Given the description of an element on the screen output the (x, y) to click on. 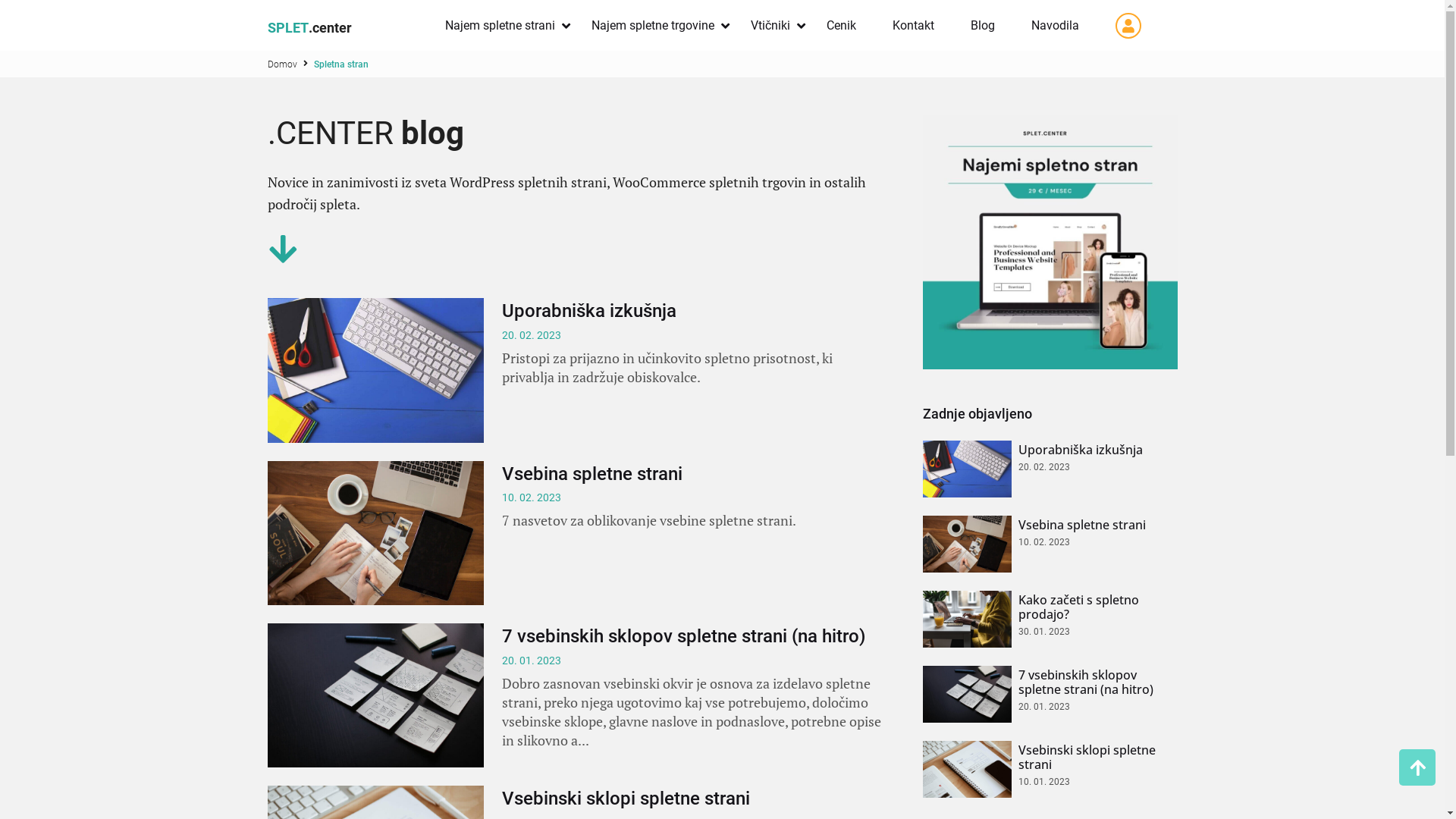
Blog Element type: text (982, 25)
Domov Element type: text (281, 64)
Najem spletne trgovine Element type: text (652, 25)
Cenik Element type: text (841, 25)
SPLET
.center Element type: text (325, 27)
Navodila Element type: text (1055, 25)
Kontakt Element type: text (912, 25)
Najem spletne strani Element type: text (499, 25)
